Given the description of an element on the screen output the (x, y) to click on. 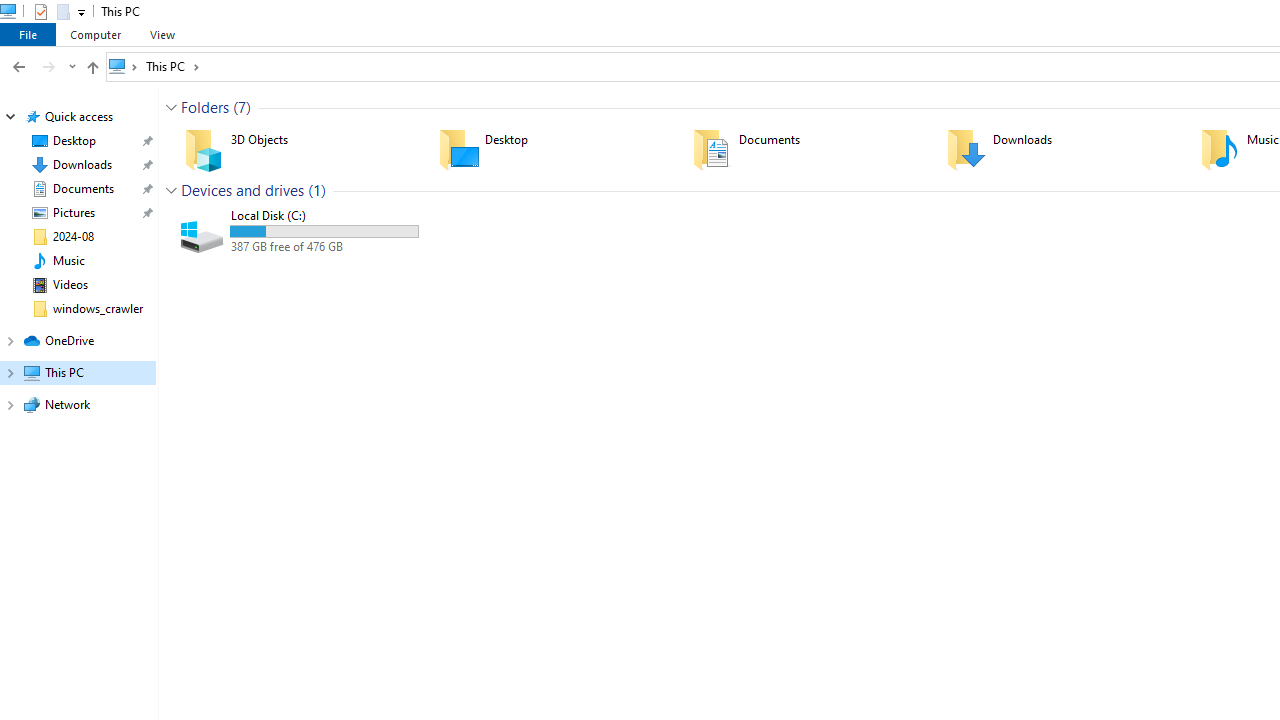
Available space (324, 246)
Collapse Group (171, 190)
All locations (124, 65)
Recent locations (71, 66)
Count (316, 190)
This PC (172, 65)
Class: UIImage (203, 232)
Customize Quick Access Toolbar (81, 11)
Up to "Desktop" (Alt + Up Arrow) (92, 67)
Documents (806, 148)
Up band toolbar (92, 70)
